Given the description of an element on the screen output the (x, y) to click on. 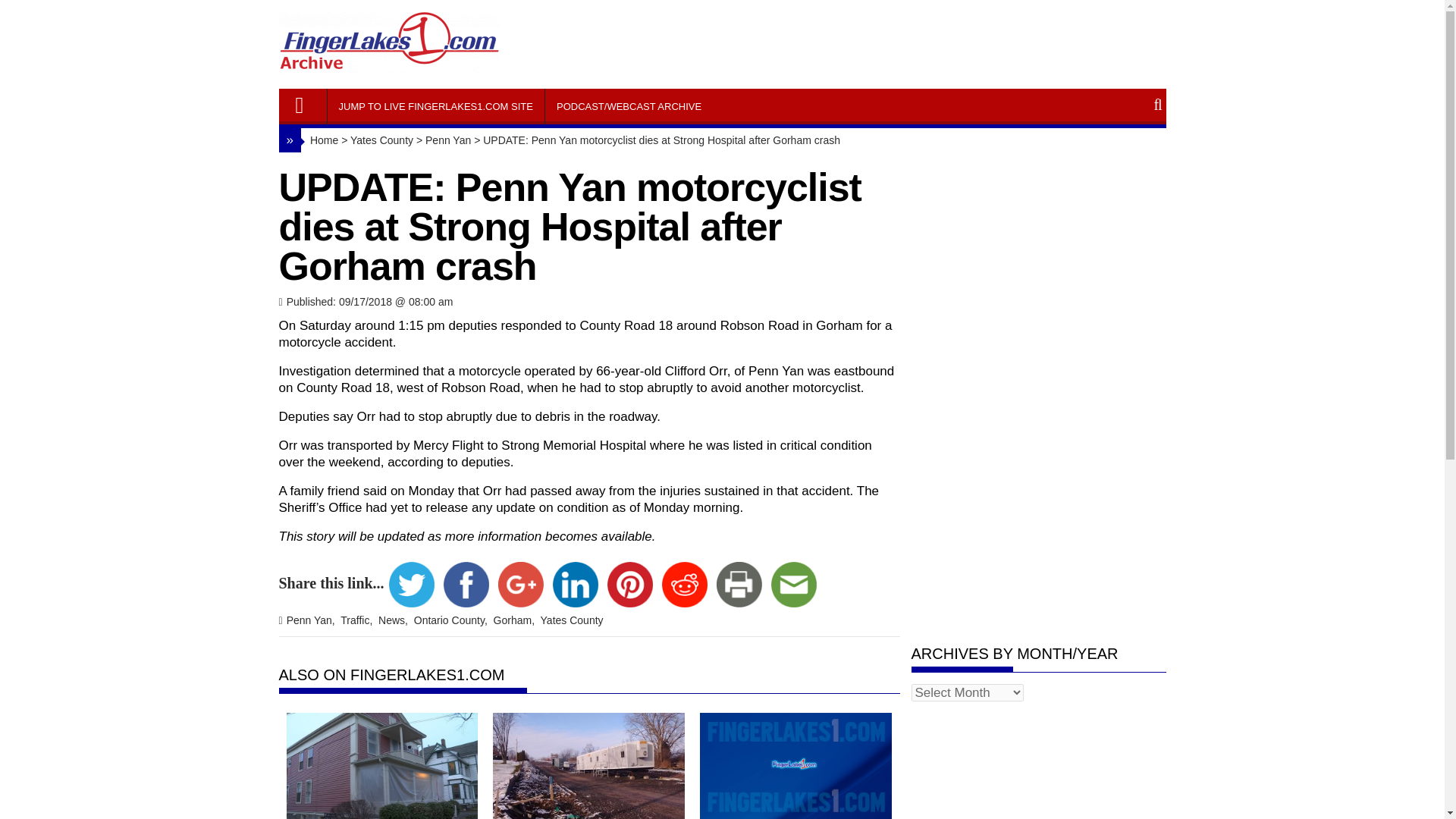
pinterest (630, 584)
Home (319, 140)
linkedin (575, 584)
Penn Yan (447, 140)
FingerLakes1.com Archive (306, 101)
Yates County (381, 140)
twitter (411, 584)
